Given the description of an element on the screen output the (x, y) to click on. 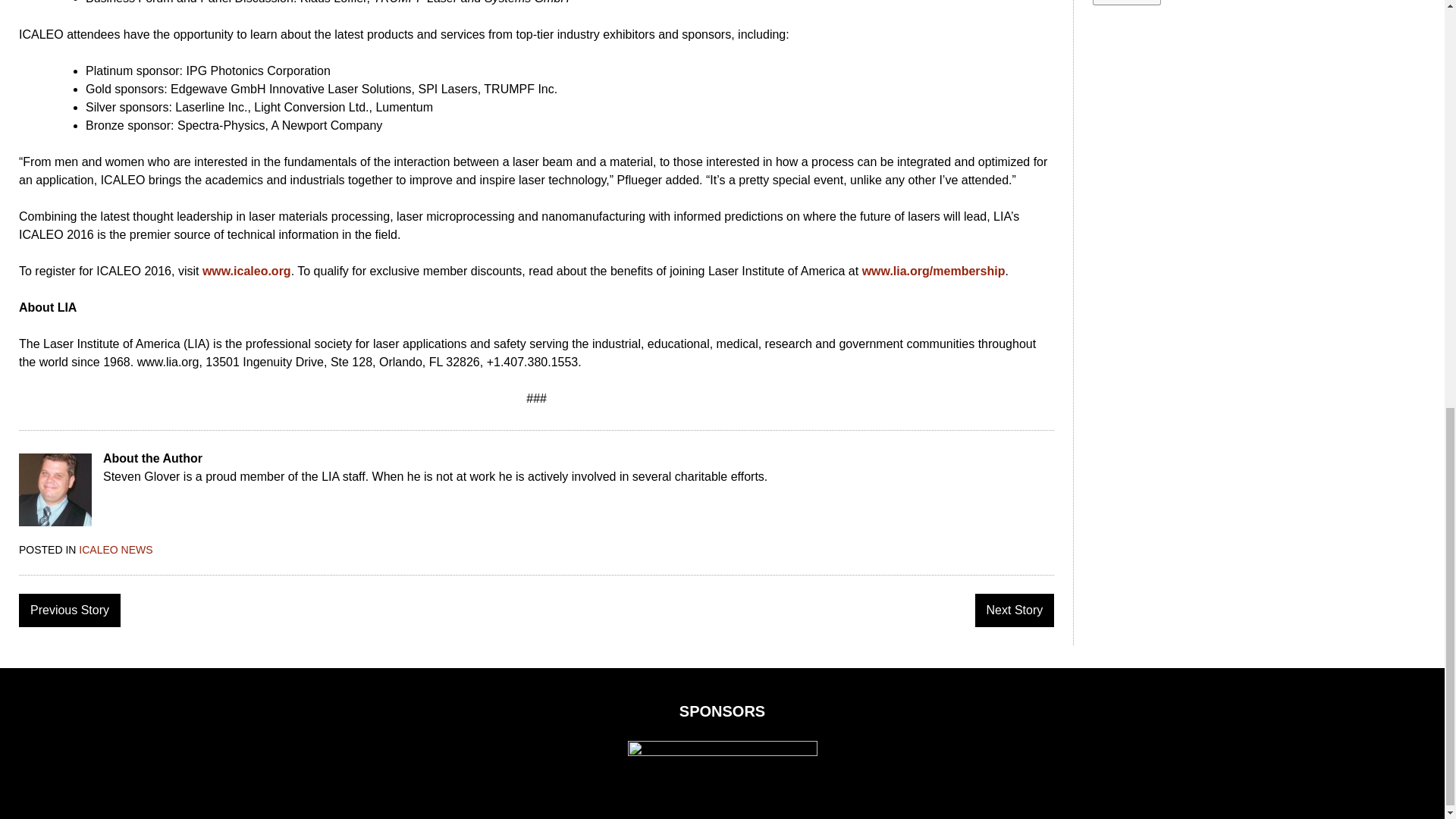
ICALEO NEWS (115, 549)
www.icaleo.org (246, 270)
Next Story (1014, 610)
Subscribe (1126, 2)
Previous Story (69, 610)
